Given the description of an element on the screen output the (x, y) to click on. 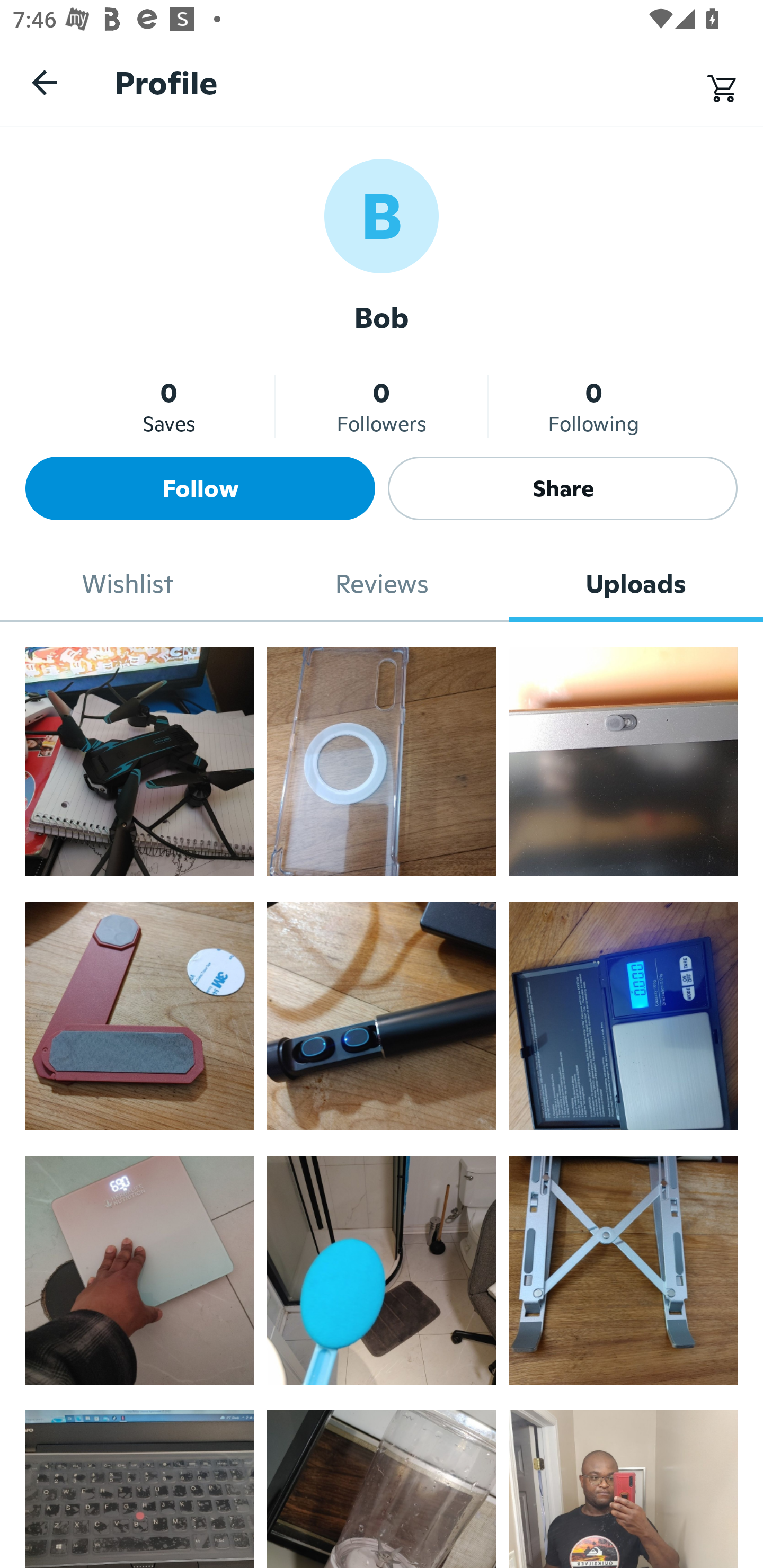
Navigate up (44, 82)
B (381, 215)
0 Followers (381, 405)
0 Following (593, 405)
Follow (200, 488)
Share (562, 488)
Wishlist (127, 583)
Reviews (381, 583)
Uploads (635, 583)
